Given the description of an element on the screen output the (x, y) to click on. 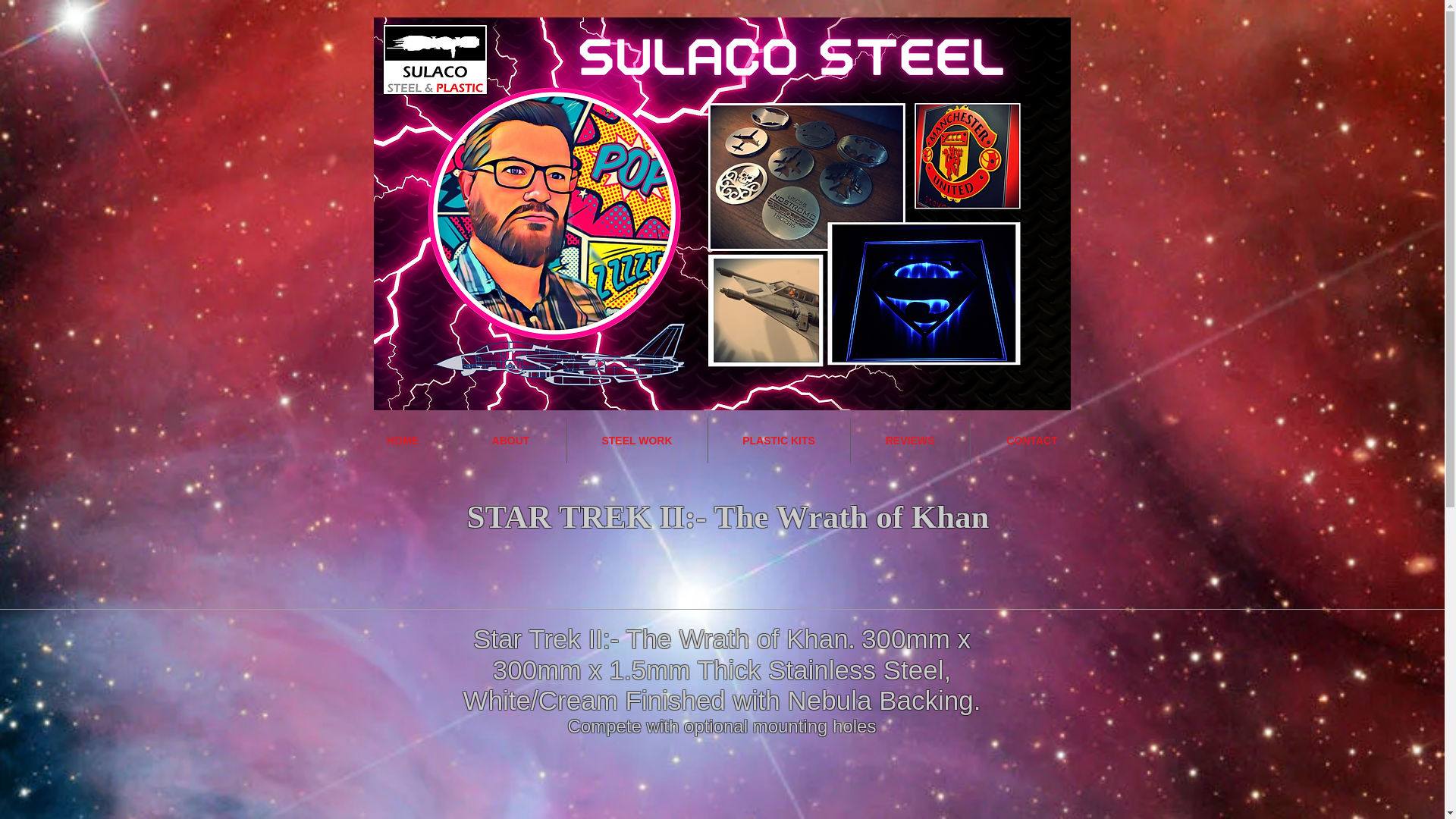
HOME (402, 440)
CONTACT (1032, 440)
ABOUT (510, 440)
PLASTIC KITS (778, 440)
REVIEWS (909, 440)
STEEL WORK (637, 440)
